Given the description of an element on the screen output the (x, y) to click on. 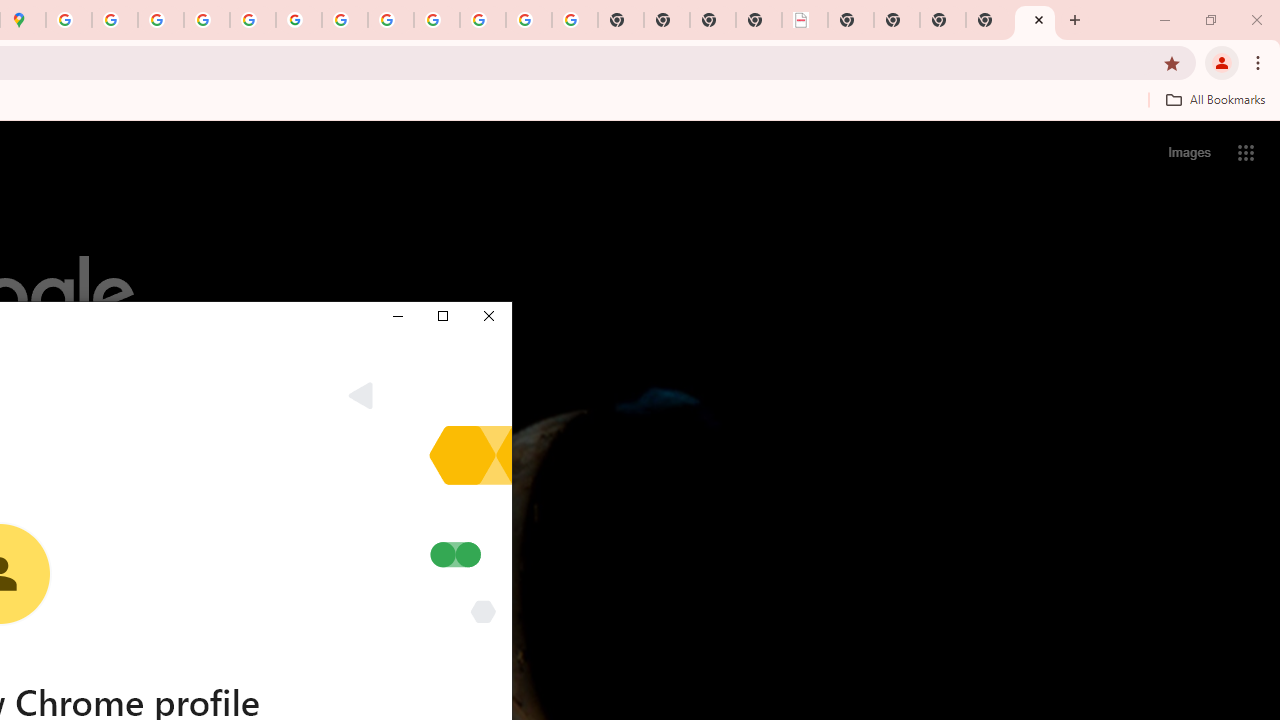
Privacy Help Center - Policies Help (161, 20)
New Tab (989, 20)
LAAD Defence & Security 2025 | BAE Systems (805, 20)
YouTube (345, 20)
New Tab (1035, 20)
Maximize (442, 316)
